Given the description of an element on the screen output the (x, y) to click on. 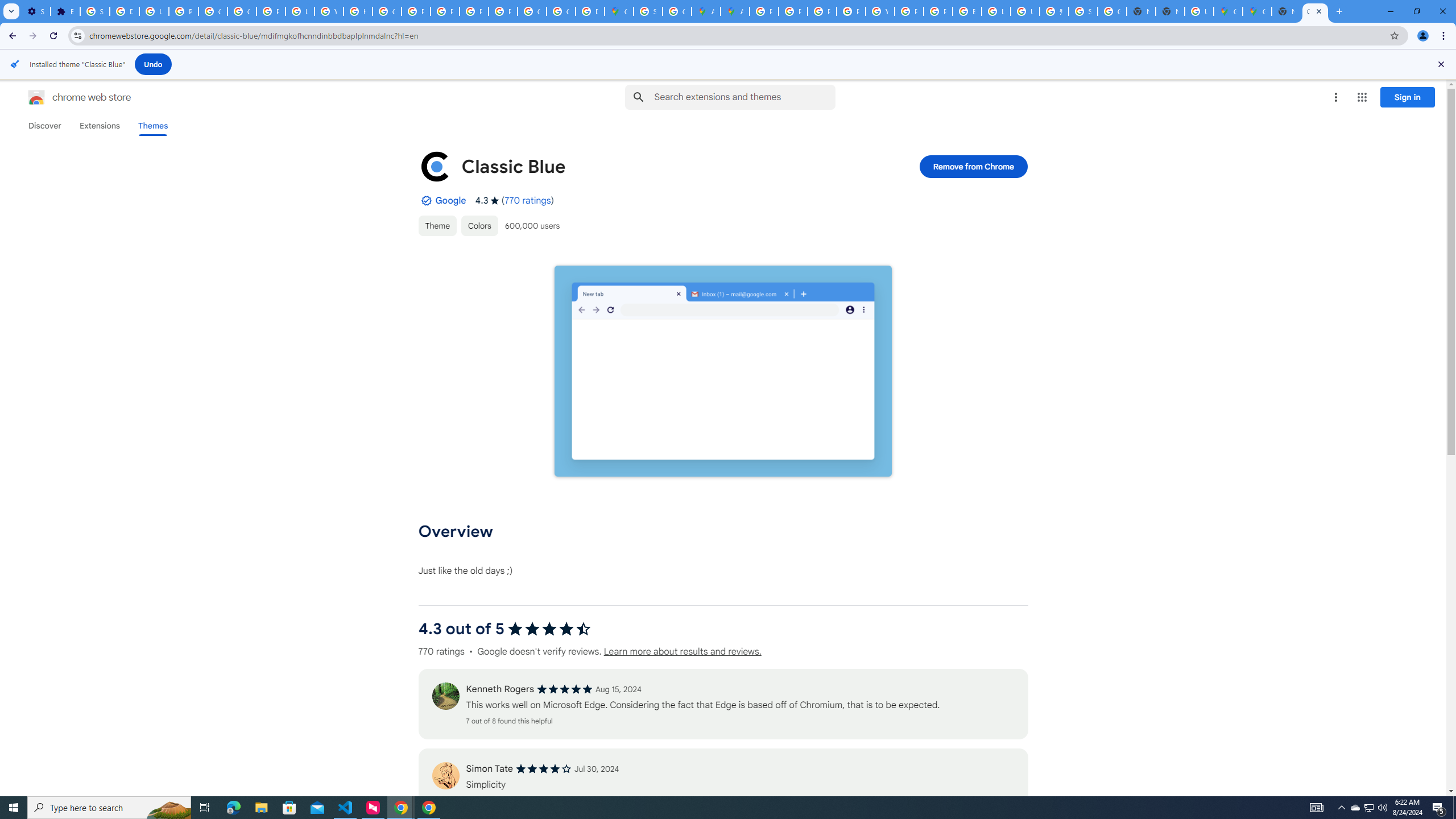
Item logo image for Classic Blue Classic Blue (645, 166)
Item media 1 screenshot (723, 372)
Delete photos & videos - Computer - Google Photos Help (124, 11)
